Given the description of an element on the screen output the (x, y) to click on. 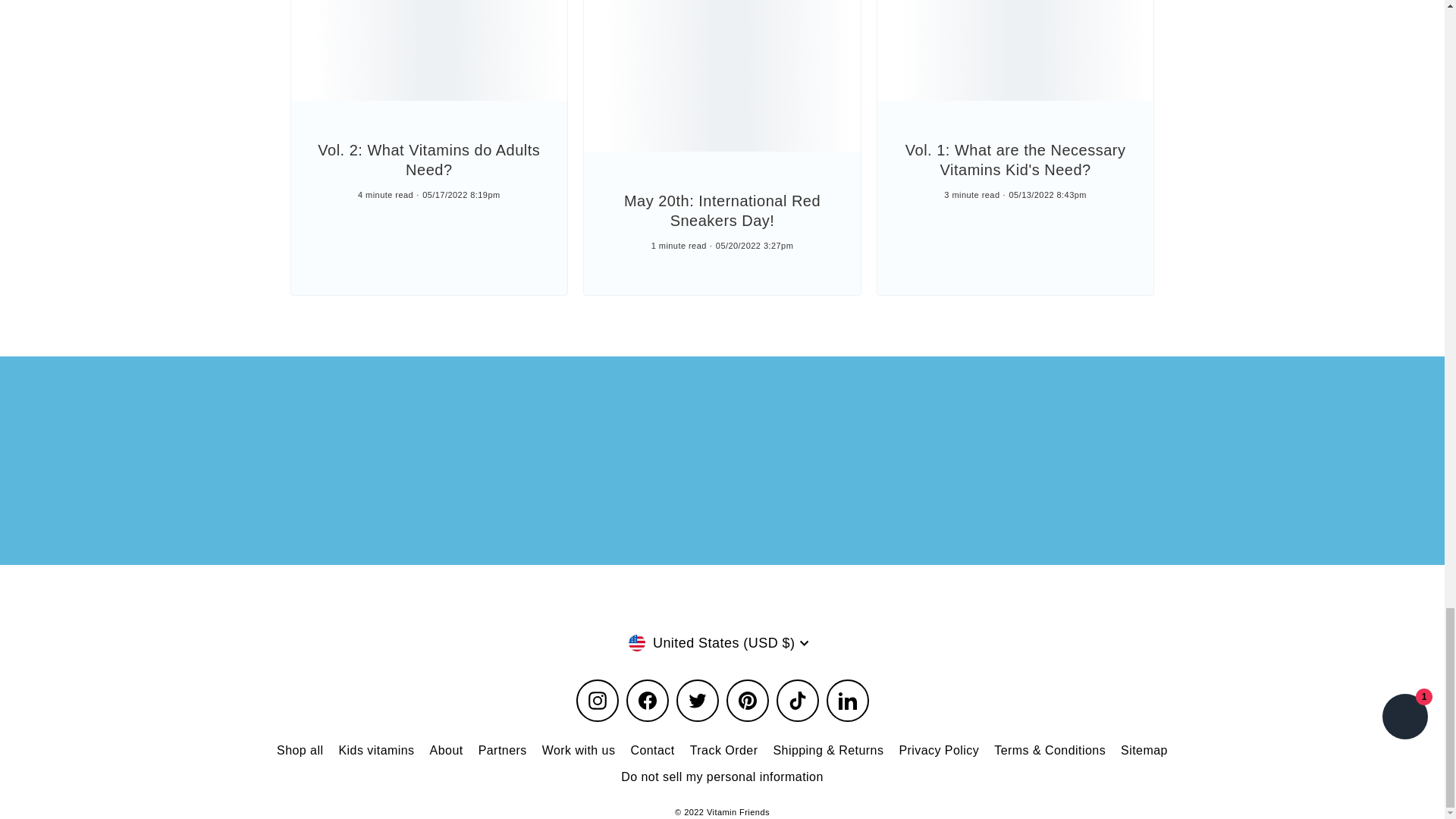
Vitamin Friends on TikTok (797, 700)
Vitamin Friends on Twitter (698, 700)
Vitamin Friends on LinkedIn (848, 700)
Vitamin Friends on Pinterest (747, 700)
Vitamin Friends on Instagram (597, 700)
Vitamin Friends on Facebook (647, 700)
